Given the description of an element on the screen output the (x, y) to click on. 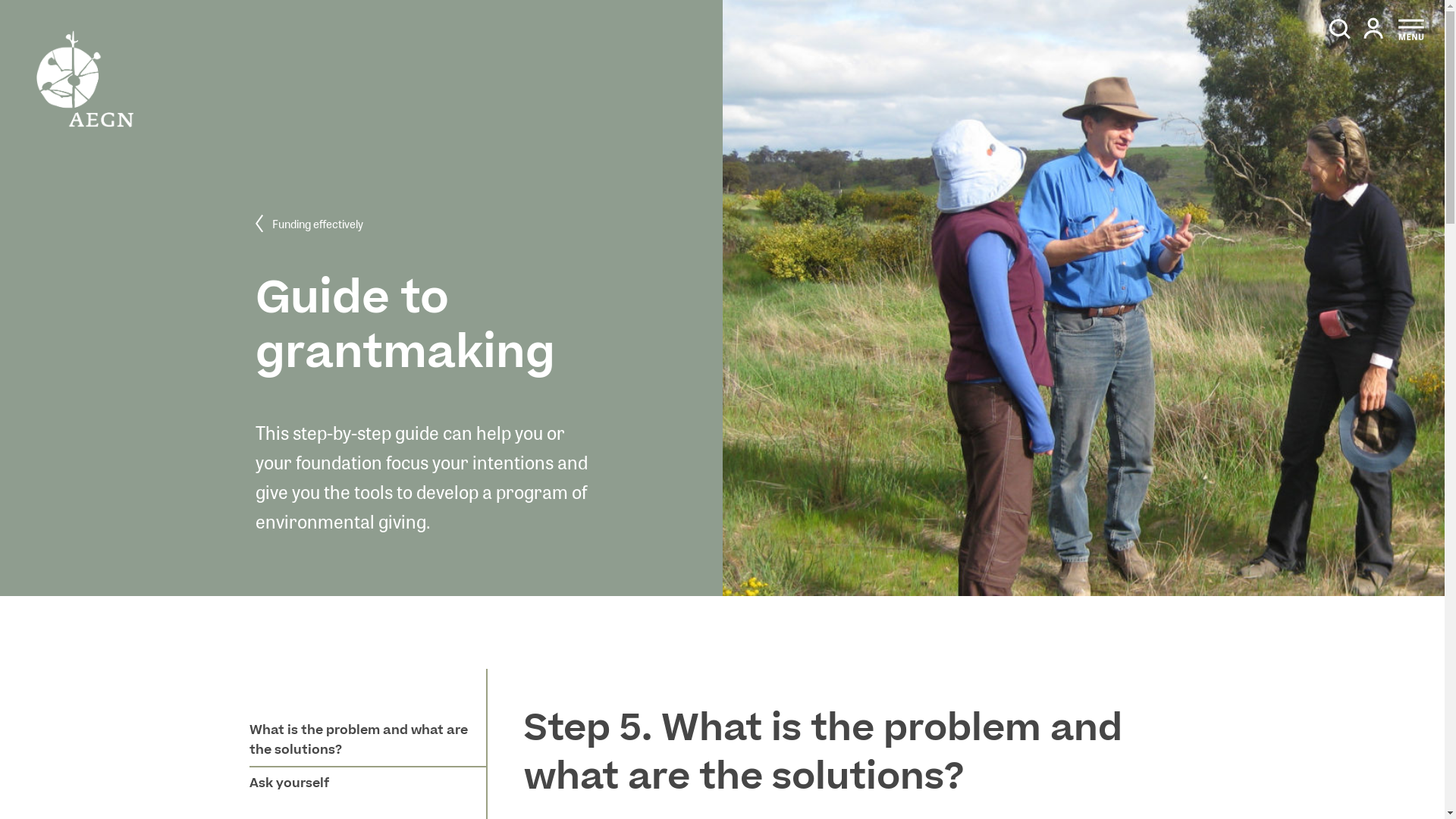
Funding effectively Element type: text (309, 224)
